Given the description of an element on the screen output the (x, y) to click on. 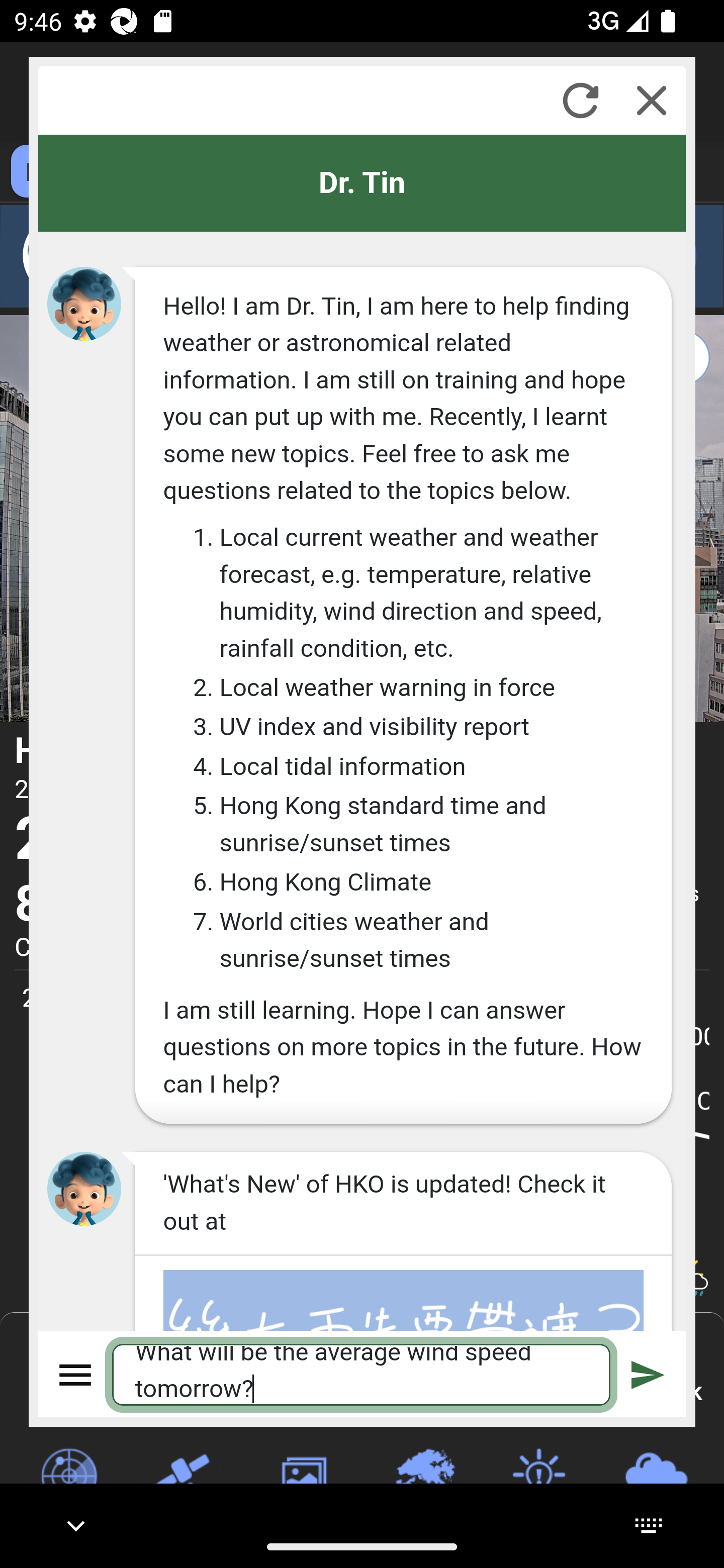
Refresh (580, 100)
Close (651, 100)
Menu (75, 1374)
Submit (648, 1374)
What will be the average wind speed tomorrow? (361, 1374)
